Given the description of an element on the screen output the (x, y) to click on. 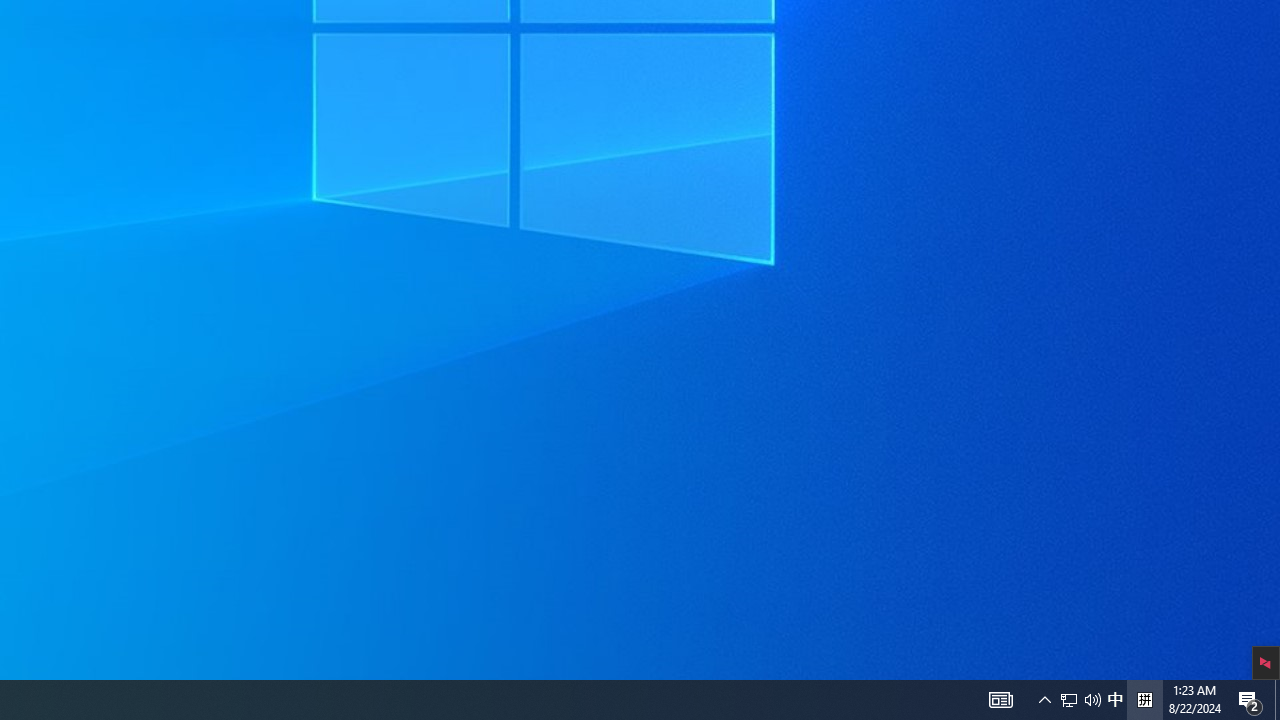
AutomationID: 4105 (1000, 699)
User Promoted Notification Area (1080, 699)
Notification Chevron (1069, 699)
Action Center, 2 new notifications (1044, 699)
Q2790: 100% (1115, 699)
Tray Input Indicator - Chinese (Simplified, China) (1250, 699)
Show desktop (1092, 699)
